Given the description of an element on the screen output the (x, y) to click on. 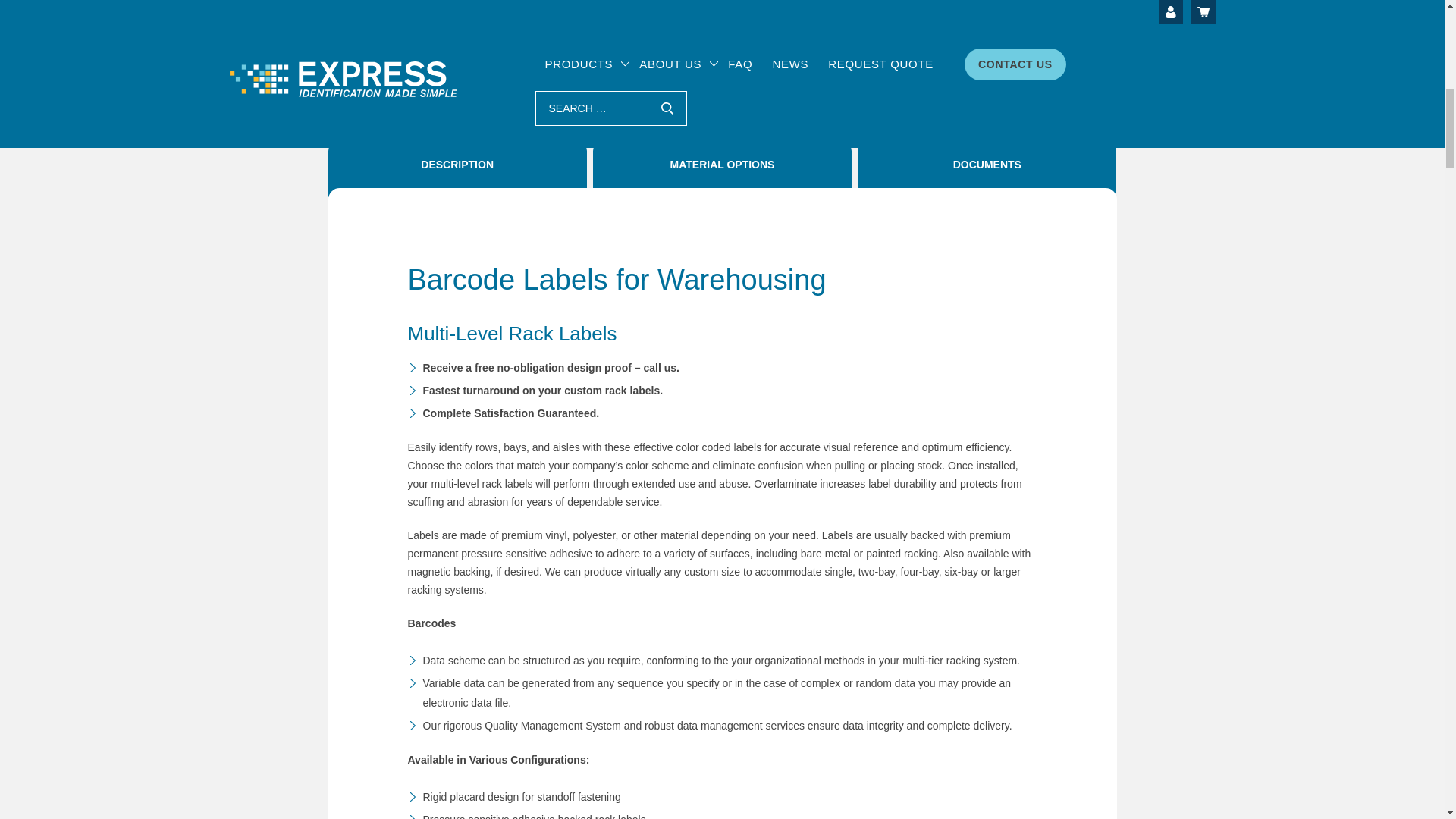
MATERIAL OPTIONS (721, 168)
DESCRIPTION (456, 168)
REQUEST A QUOTE (839, 6)
GET SAMPLES (839, 45)
DOCUMENTS (986, 168)
